Given the description of an element on the screen output the (x, y) to click on. 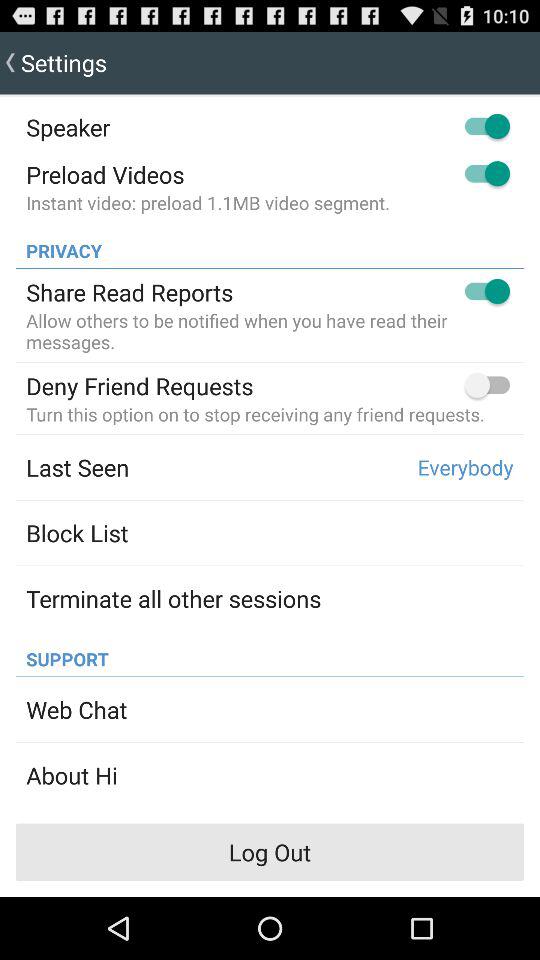
launch block list item (77, 532)
